Given the description of an element on the screen output the (x, y) to click on. 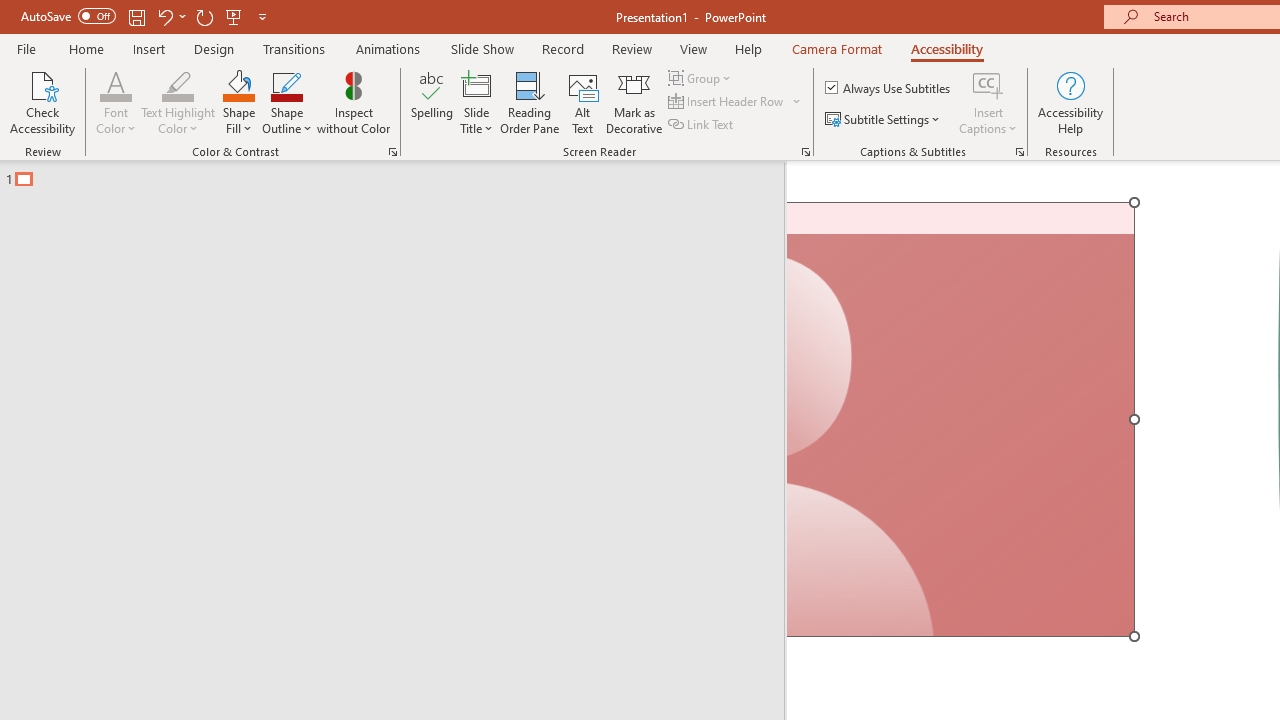
Link Text (702, 124)
Slide Title (476, 102)
Always Use Subtitles (889, 87)
Mark as Decorative (634, 102)
Outline (401, 174)
